Given the description of an element on the screen output the (x, y) to click on. 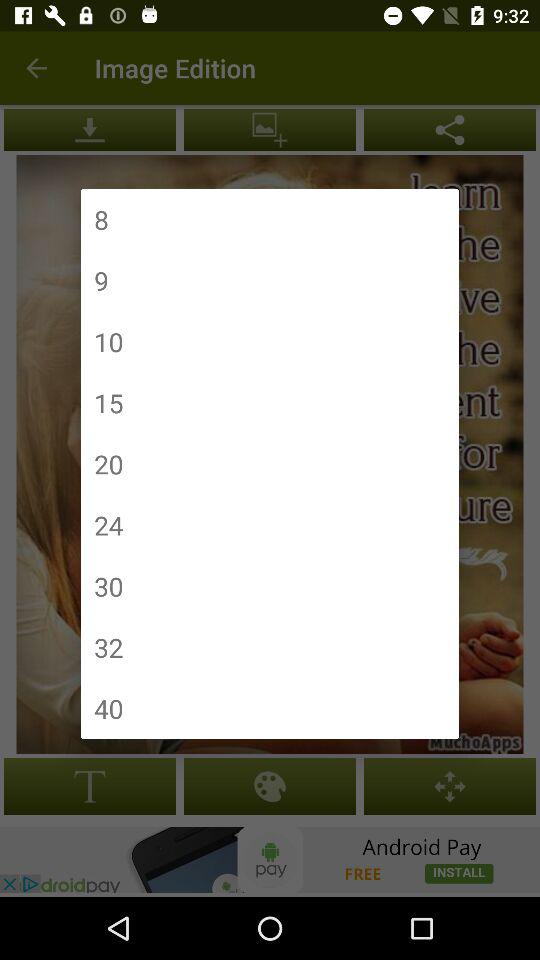
choose icon below 15 (108, 463)
